Given the description of an element on the screen output the (x, y) to click on. 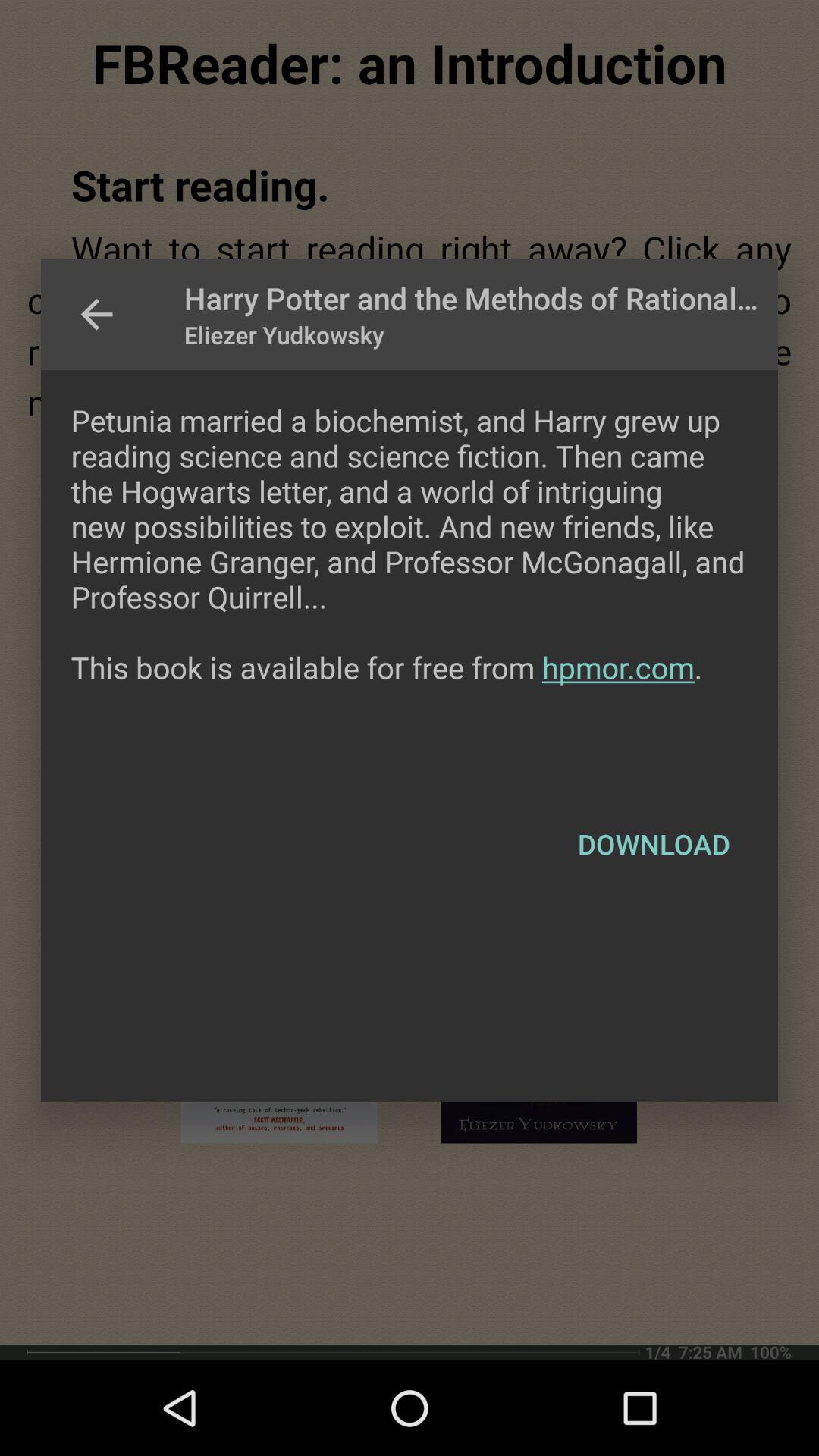
open the item below the petunia married a (653, 843)
